Given the description of an element on the screen output the (x, y) to click on. 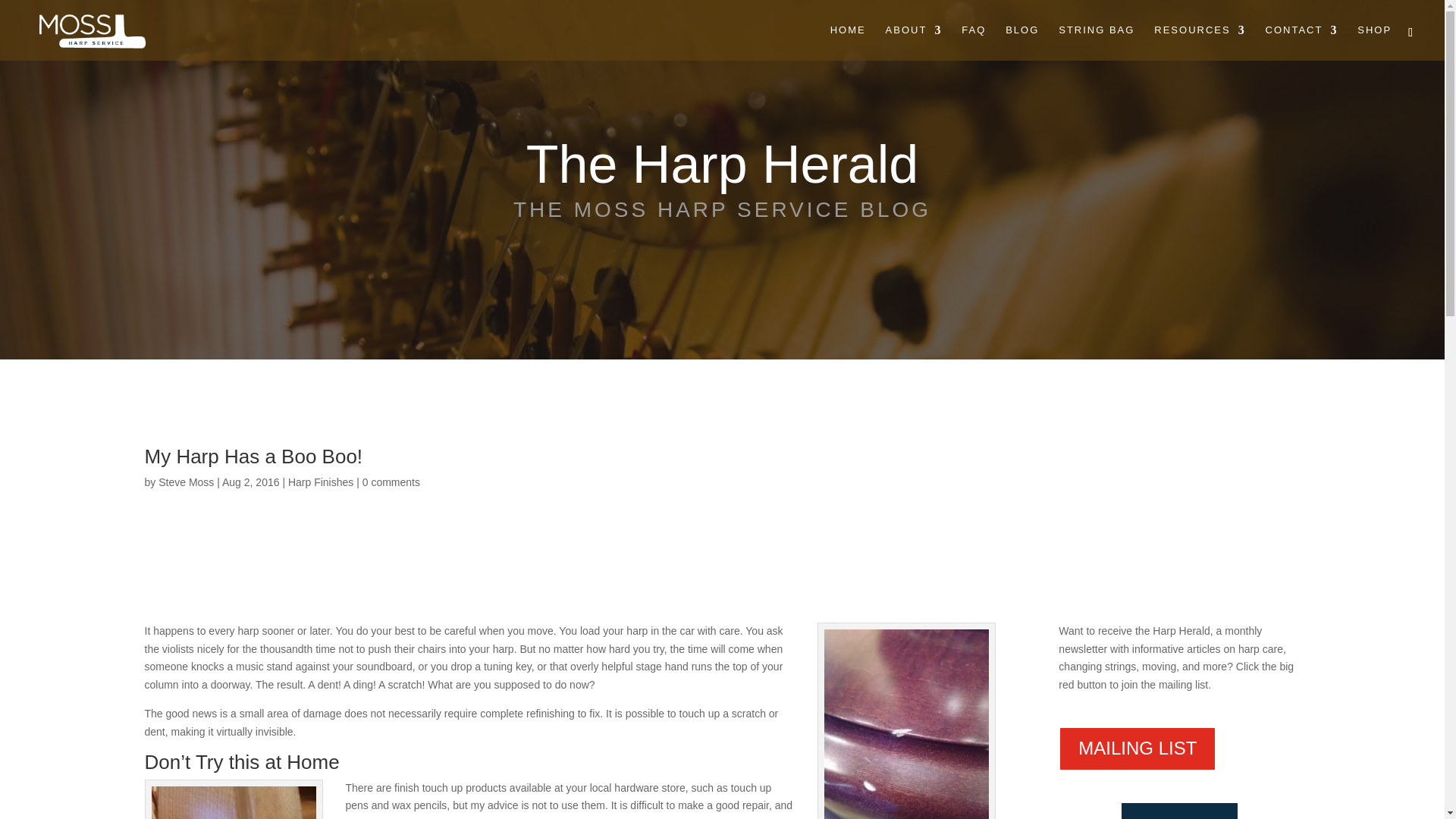
MAILING LIST (1136, 748)
Steve Moss (186, 481)
BLOG (1022, 42)
HOME (847, 42)
RESOURCES (1199, 42)
SHOP (1373, 42)
CONTACT (1301, 42)
STRING BAG (1096, 42)
ABOUT (913, 42)
0 comments (391, 481)
Posts by Steve Moss (186, 481)
Harp Finishes (320, 481)
